Given the description of an element on the screen output the (x, y) to click on. 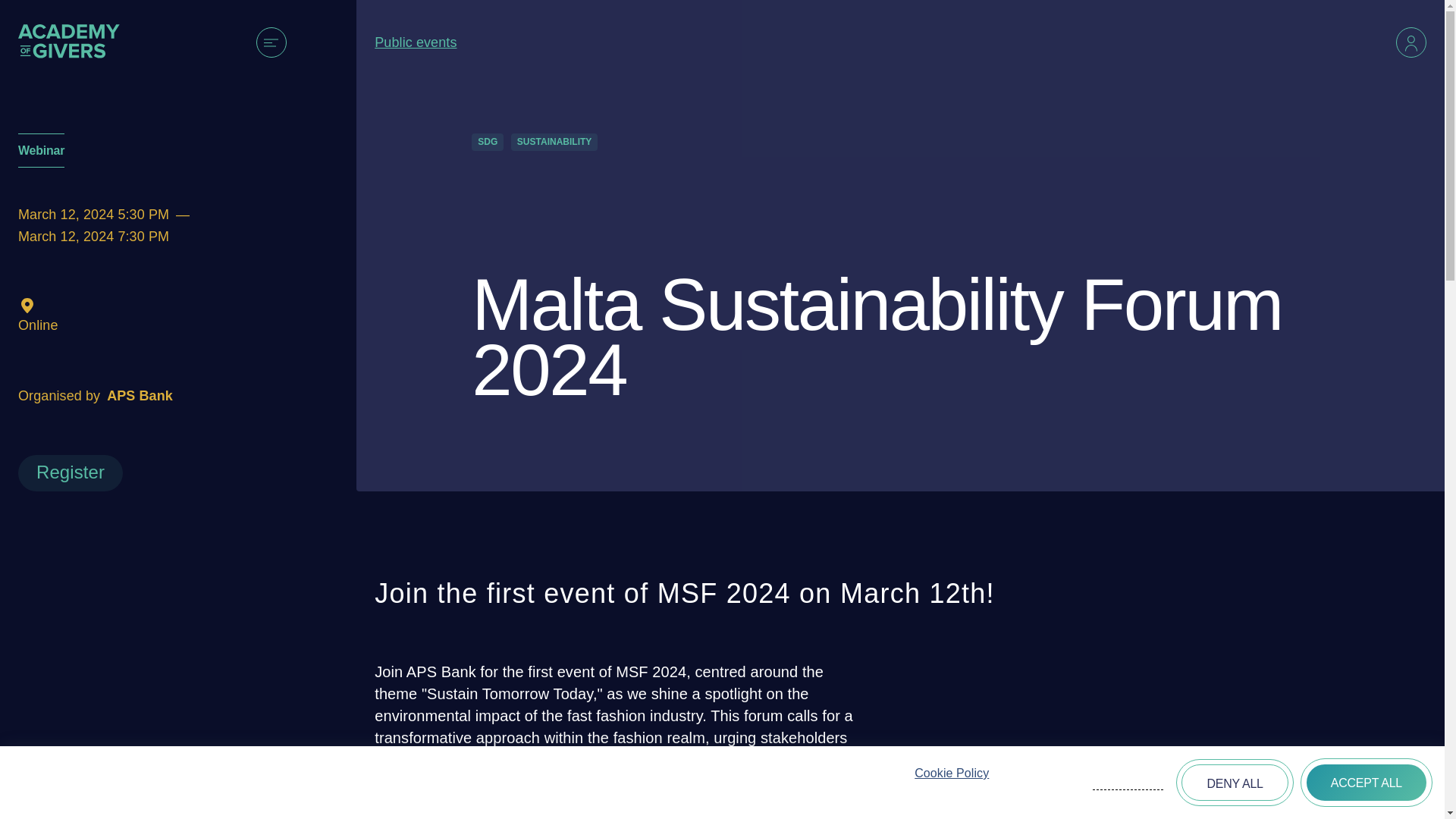
DENY ALL (1233, 782)
ACCEPT ALL (1366, 782)
Cookie Policy (951, 772)
Open peferences (1128, 784)
Public events (484, 42)
